Given the description of an element on the screen output the (x, y) to click on. 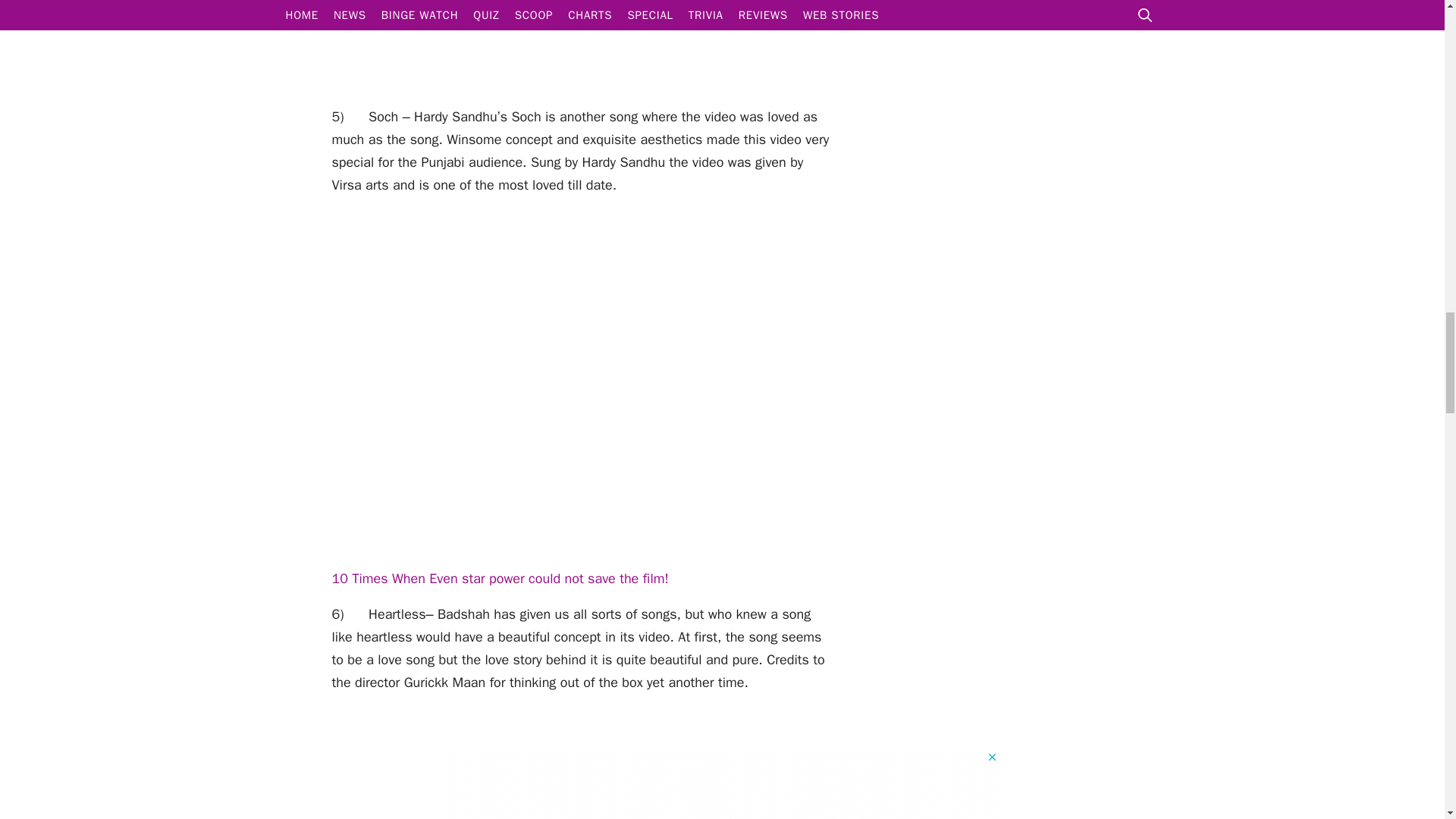
10 Times When Even star power could not save the film! (499, 578)
